Given the description of an element on the screen output the (x, y) to click on. 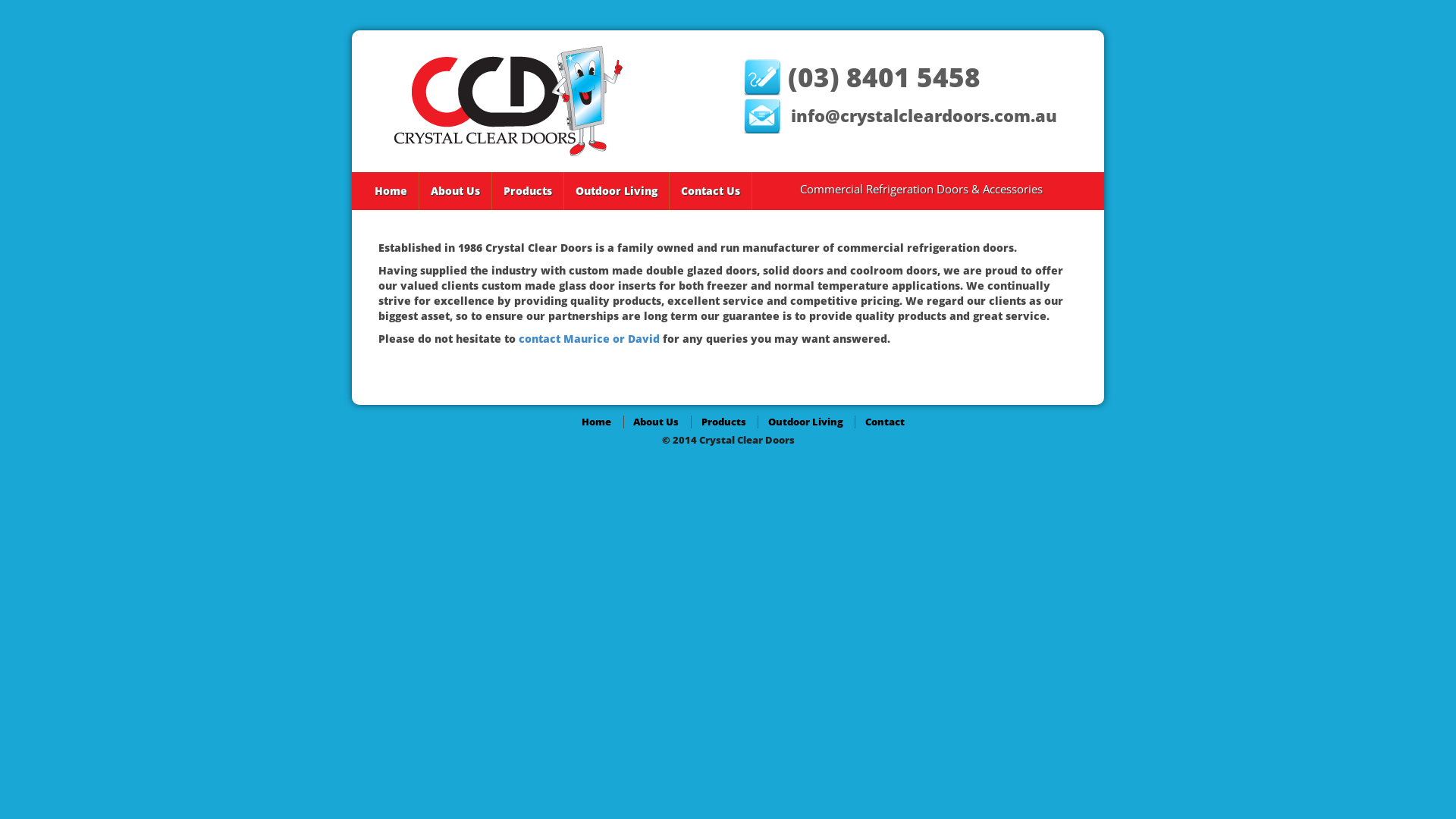
Contact Us Element type: text (710, 191)
Contact Element type: text (884, 421)
Outdoor Living Element type: text (616, 191)
info@crystalcleardoors.com.au Element type: text (923, 116)
contact Maurice or David Element type: text (588, 338)
About Us Element type: text (655, 421)
Home Element type: text (596, 421)
Crystal Clear Doors Element type: text (508, 101)
About Us Element type: text (455, 191)
Outdoor Living Element type: text (805, 421)
Products Element type: text (722, 421)
Products Element type: text (527, 191)
Home Element type: text (390, 191)
